Given the description of an element on the screen output the (x, y) to click on. 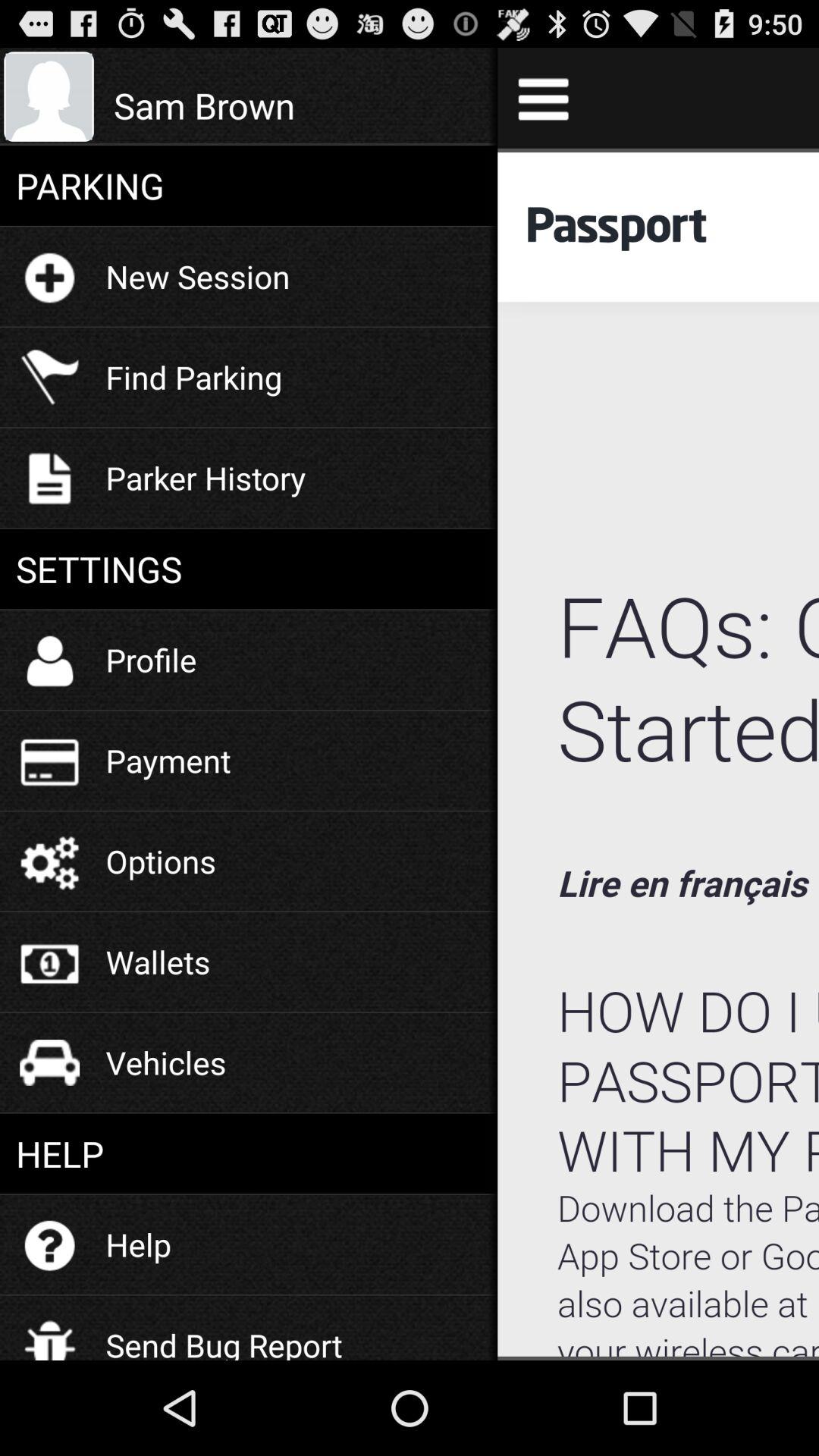
choose icon below new session icon (193, 376)
